Given the description of an element on the screen output the (x, y) to click on. 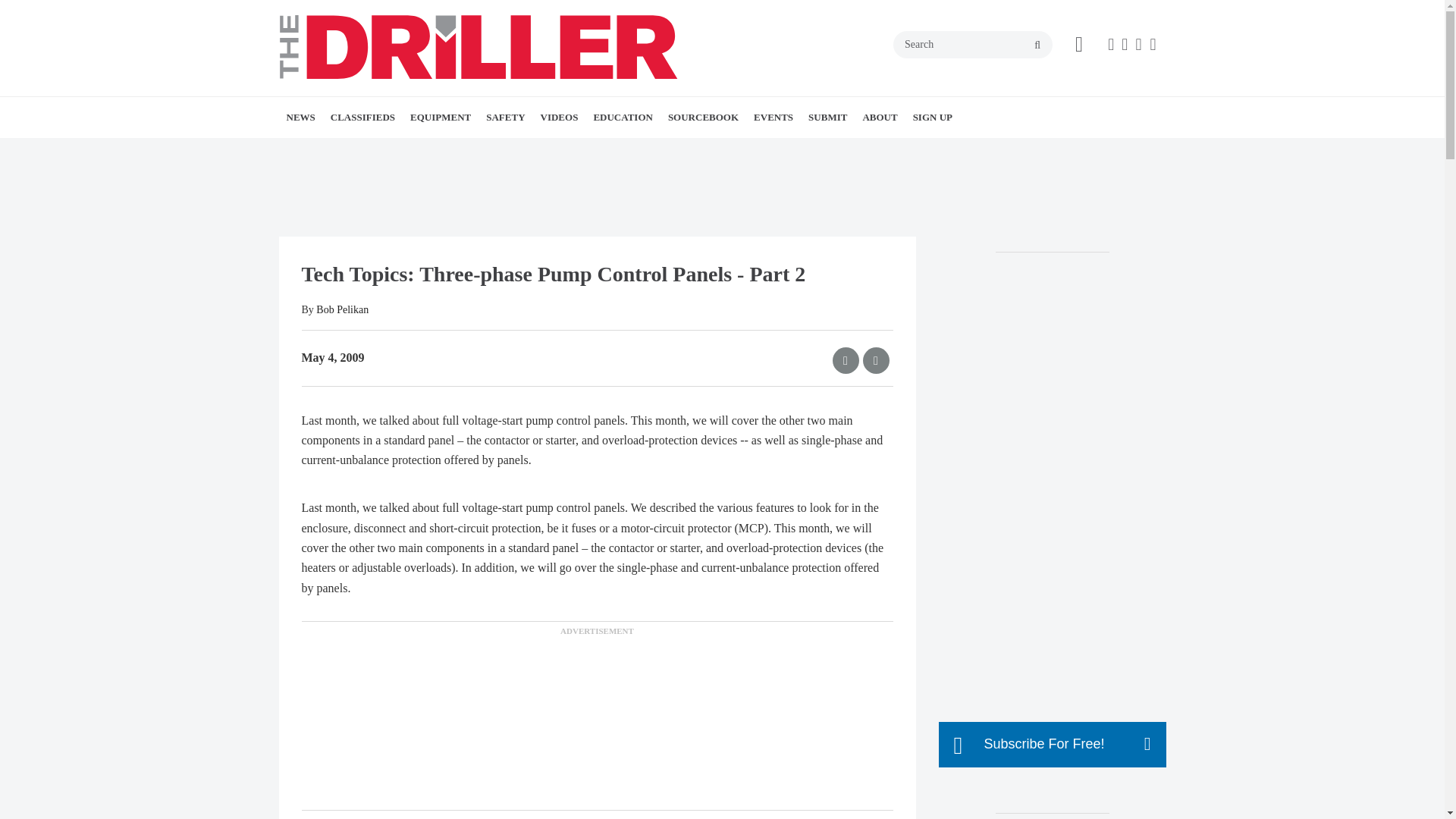
EVENTS (772, 117)
VIDEOS (559, 117)
Search (972, 43)
EQUIPMENT (441, 117)
ASK BROCK (640, 150)
WATER (373, 150)
CONSUMABLES (504, 150)
NEWS (301, 117)
REFERENCE DESK (691, 150)
SOURCEBOOK (703, 117)
